Given the description of an element on the screen output the (x, y) to click on. 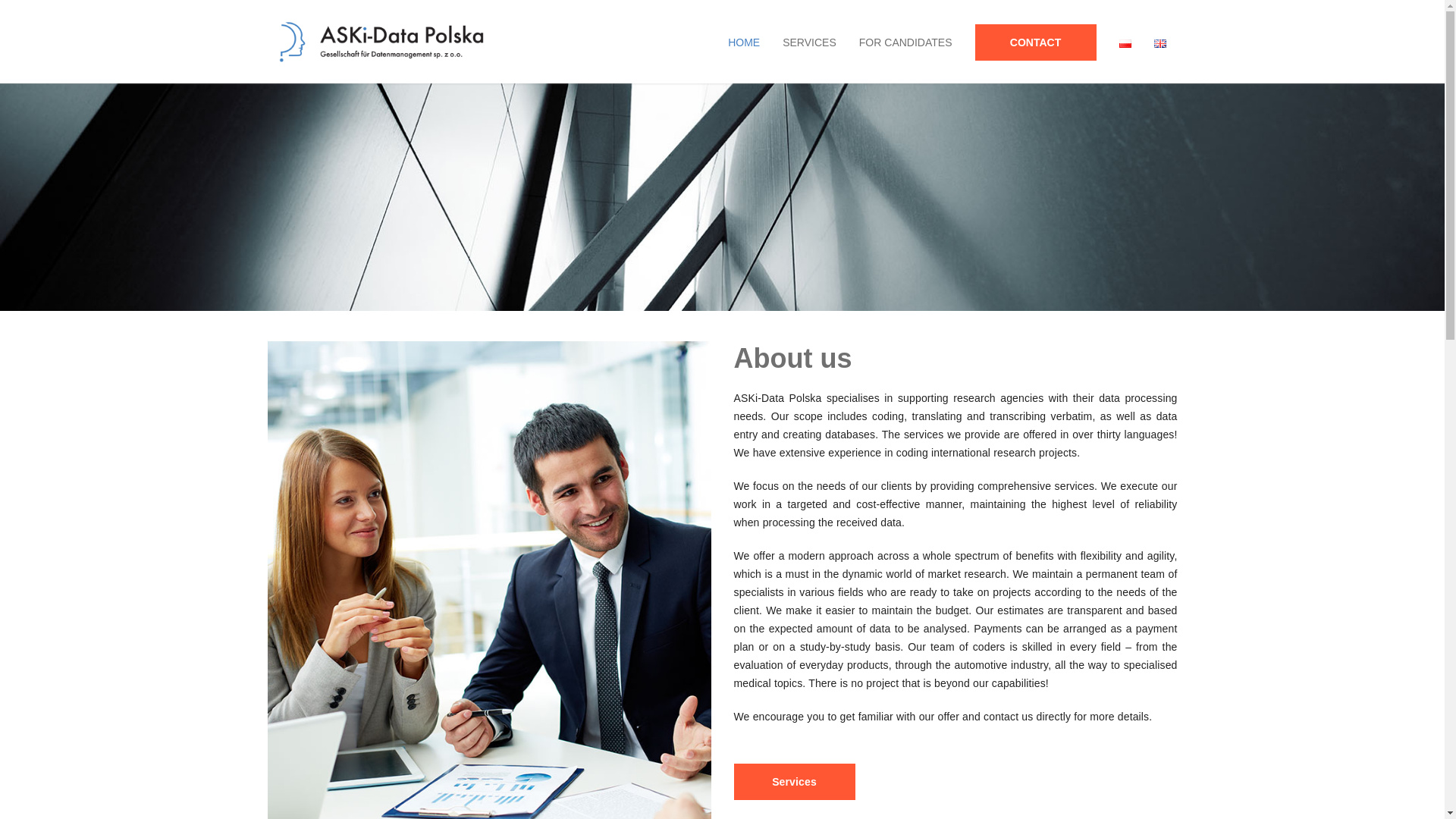
FOR CANDIDATES (905, 42)
Services (794, 781)
SERVICES (809, 42)
CONTACT (1034, 41)
HOME (743, 42)
